Given the description of an element on the screen output the (x, y) to click on. 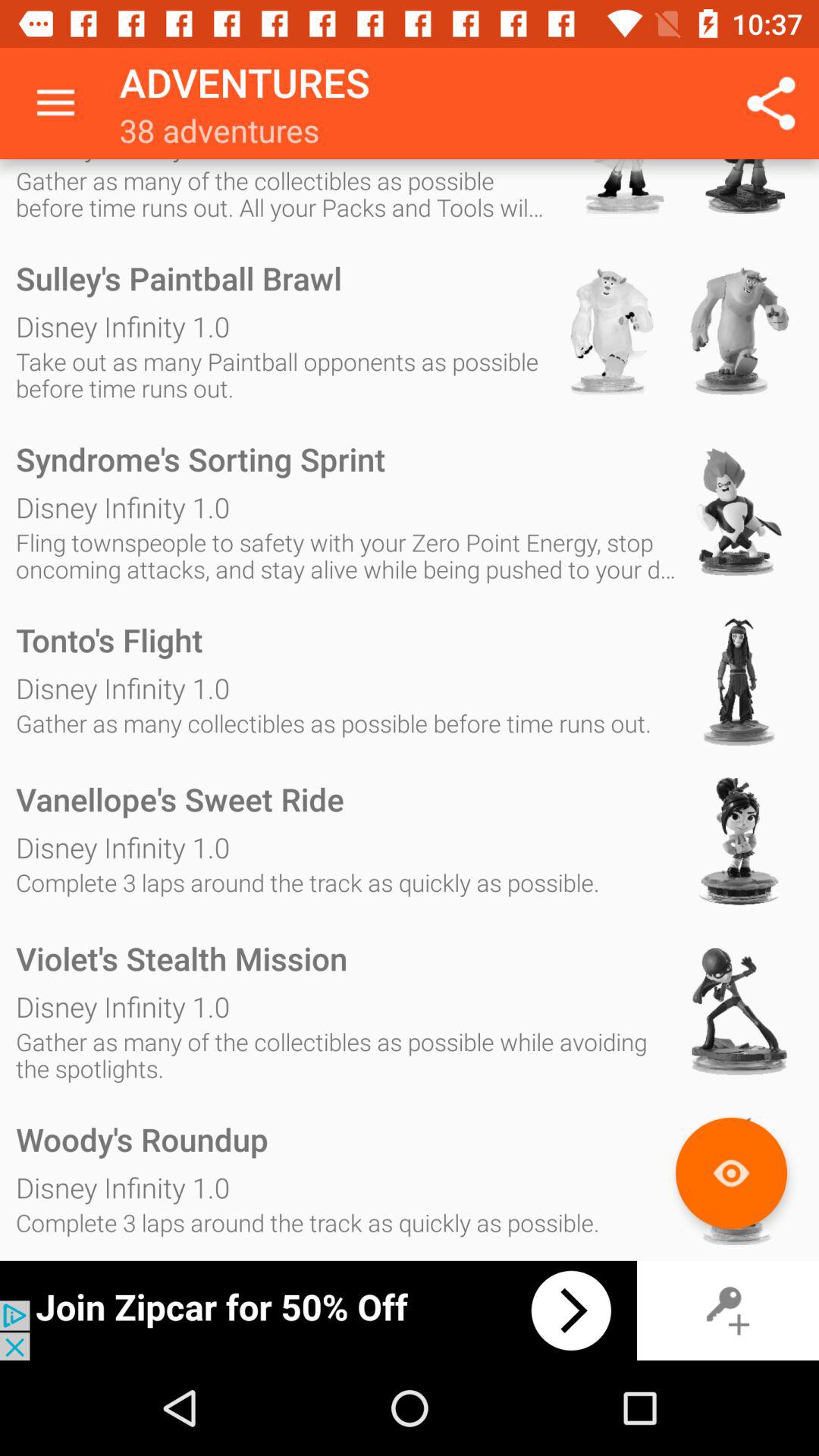
search button (731, 1173)
